Given the description of an element on the screen output the (x, y) to click on. 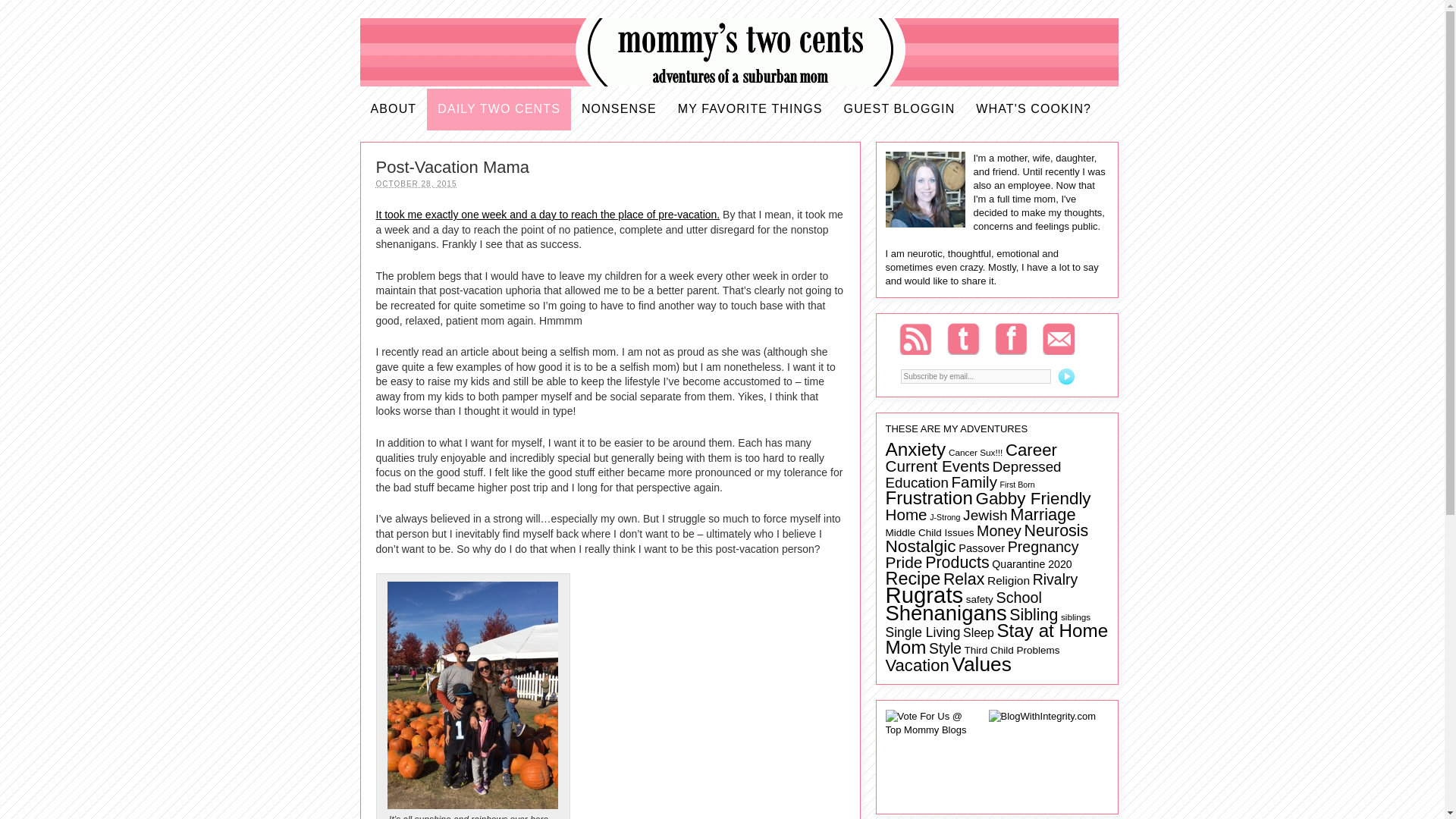
34 topics (937, 466)
GUEST BLOGGIN (899, 109)
3 topics (976, 452)
Neurosis (1057, 530)
ABOUT (392, 109)
Frustration (928, 497)
Jewish (984, 514)
23 topics (984, 514)
Nostalgic (920, 546)
80 topics (928, 497)
